Given the description of an element on the screen output the (x, y) to click on. 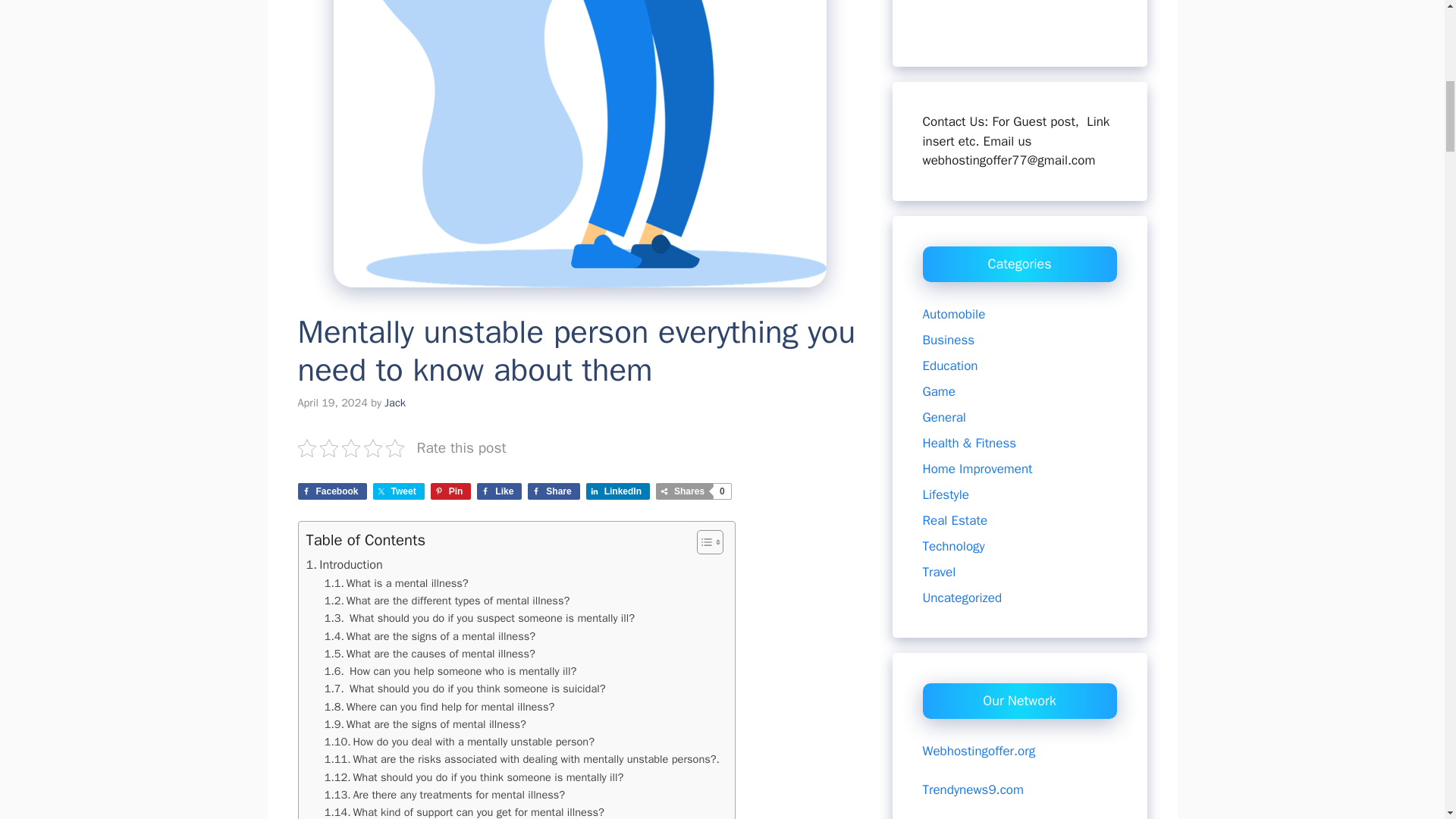
Like on Facebook (499, 491)
Pin (450, 491)
View all posts by Jack (395, 402)
Share on Facebook (331, 491)
Share on Pinterest (450, 491)
Share on LinkedIn (617, 491)
LinkedIn (617, 491)
Share (553, 491)
 What should you do if you think someone is suicidal? (464, 688)
Tweet (398, 491)
Facebook (331, 491)
Introduction (343, 564)
Jack (395, 402)
What is a mental illness? (396, 583)
 What should you do if you suspect someone is mentally ill? (479, 618)
